Given the description of an element on the screen output the (x, y) to click on. 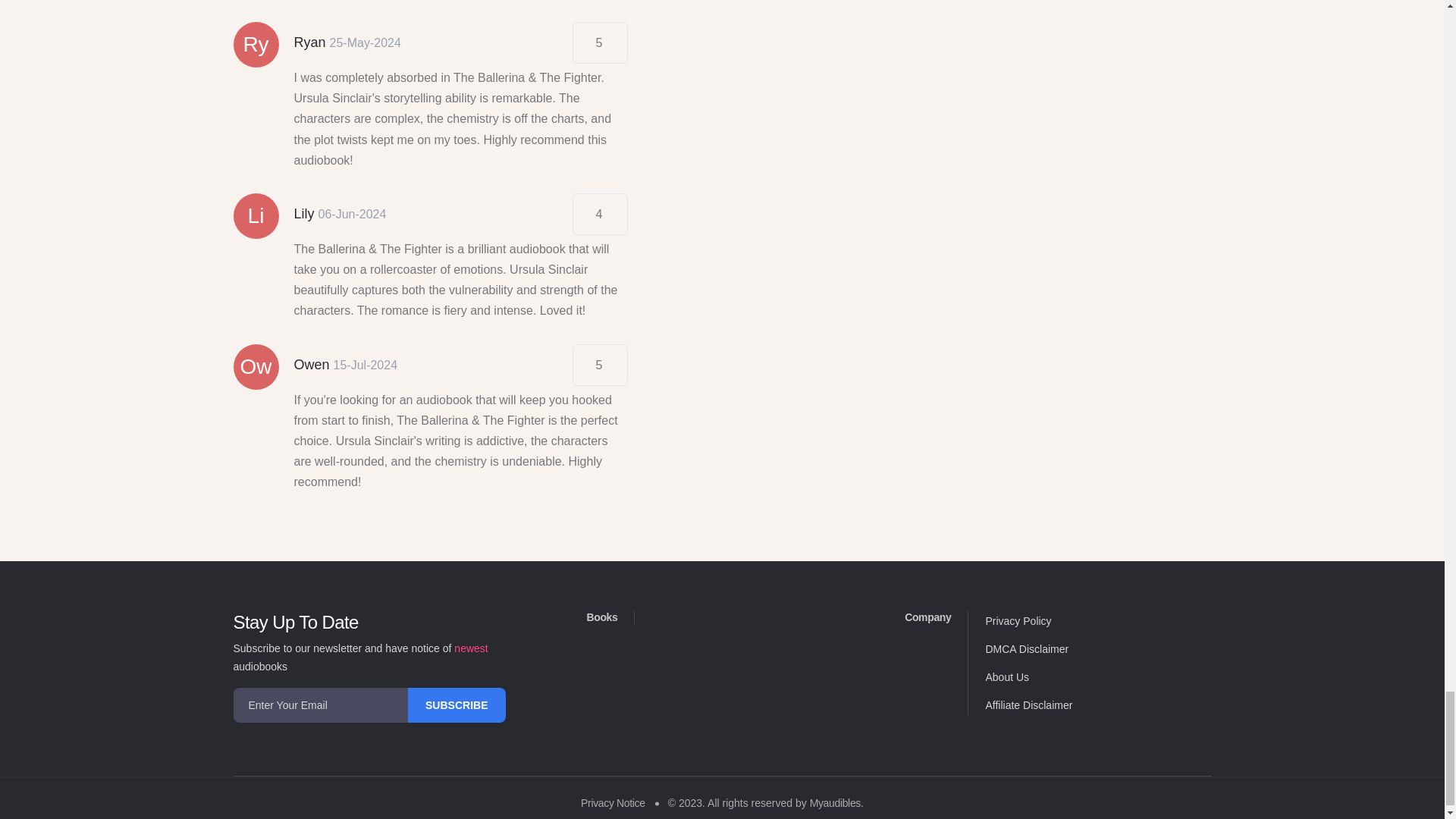
Myaudibles (834, 802)
About Us (1007, 676)
DMCA Disclaimer (1026, 648)
Privacy Policy (1018, 621)
SUBSCRIBE (456, 704)
Privacy Notice (612, 802)
Affiliate Disclaimer (1028, 705)
